Given the description of an element on the screen output the (x, y) to click on. 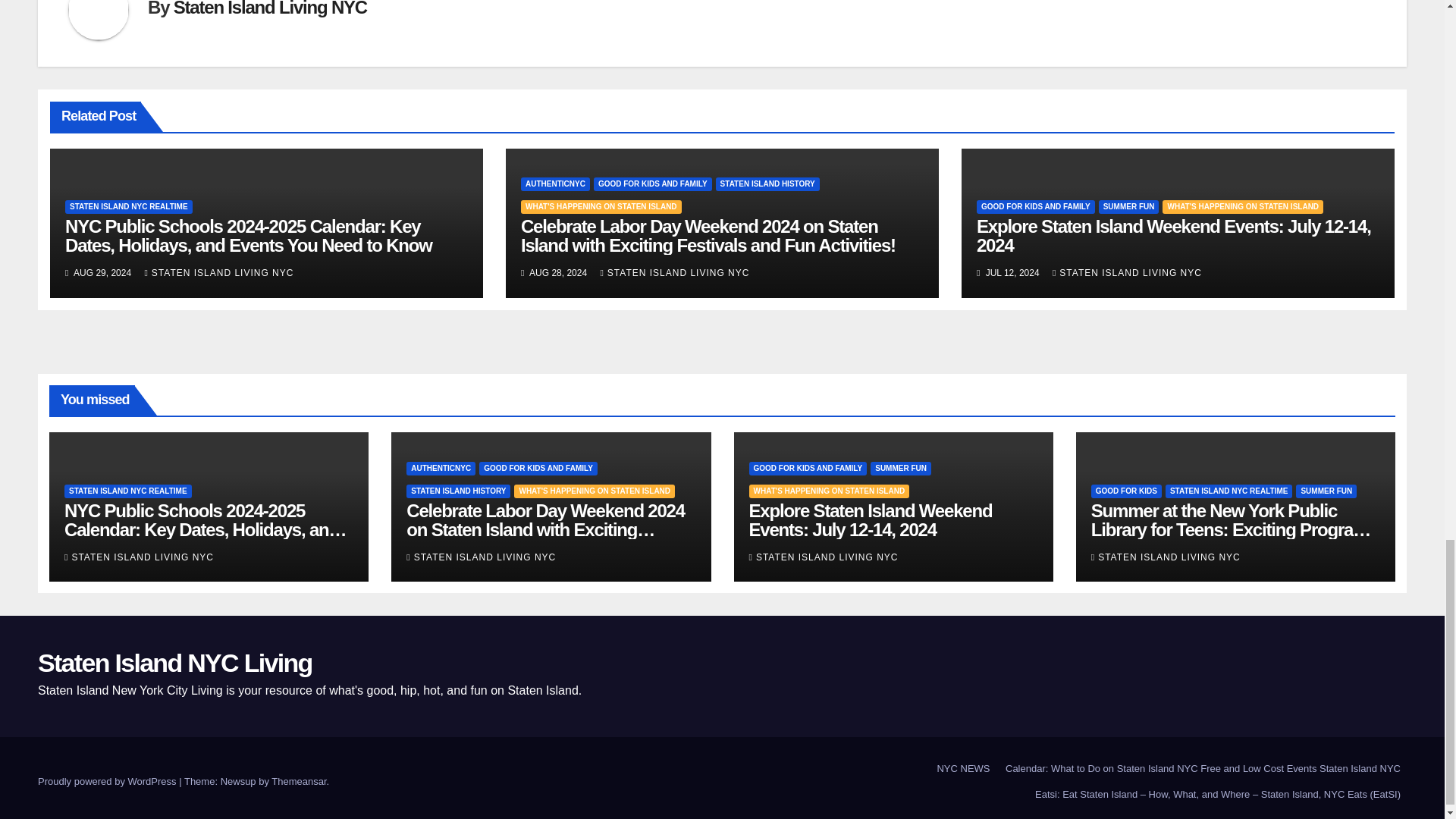
NYC NEWS (962, 768)
